Given the description of an element on the screen output the (x, y) to click on. 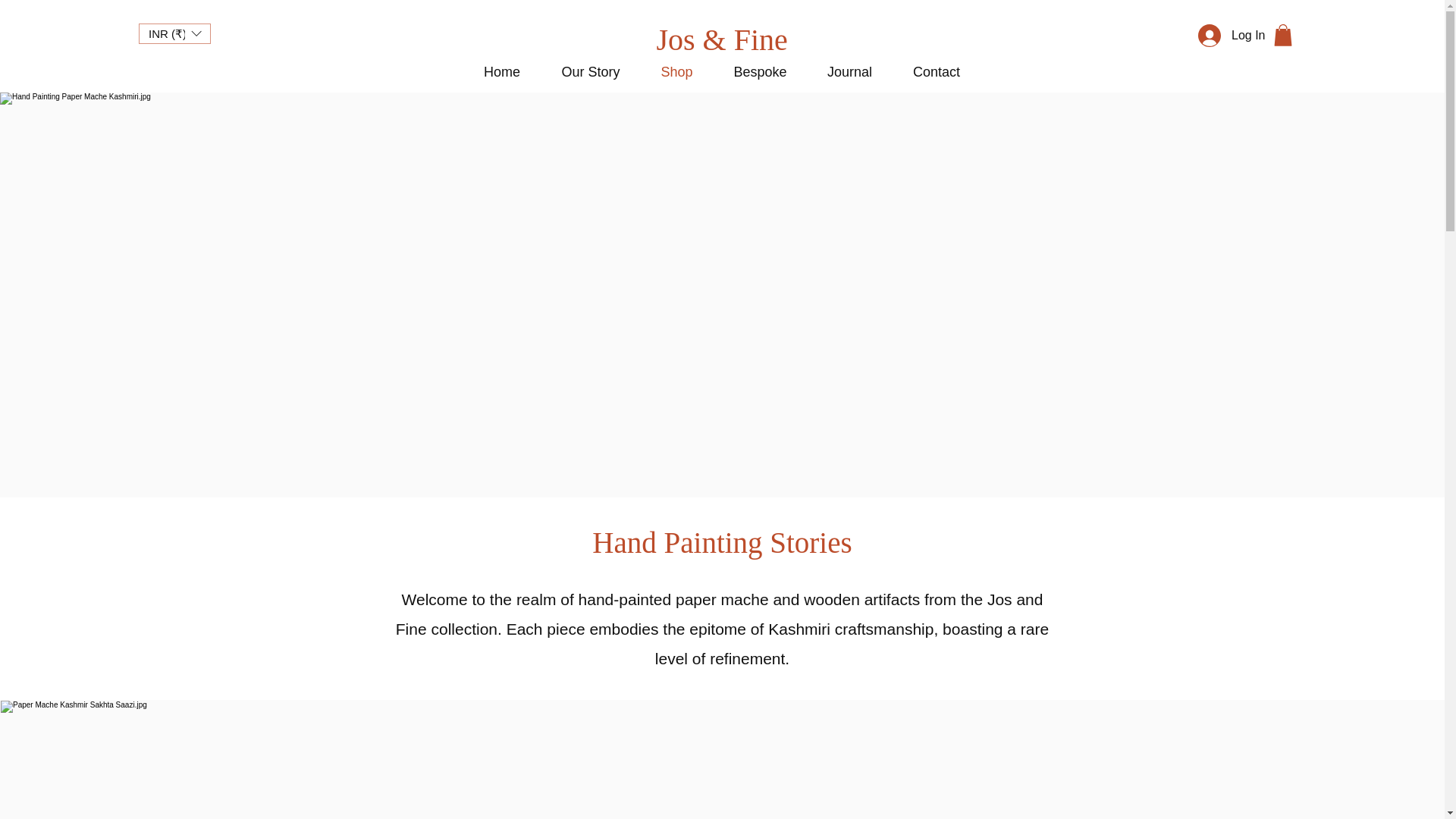
Log In (1223, 35)
Home (501, 71)
Our Story (590, 71)
Contact (935, 71)
Journal (848, 71)
Shop (676, 71)
Bespoke (759, 71)
